Given the description of an element on the screen output the (x, y) to click on. 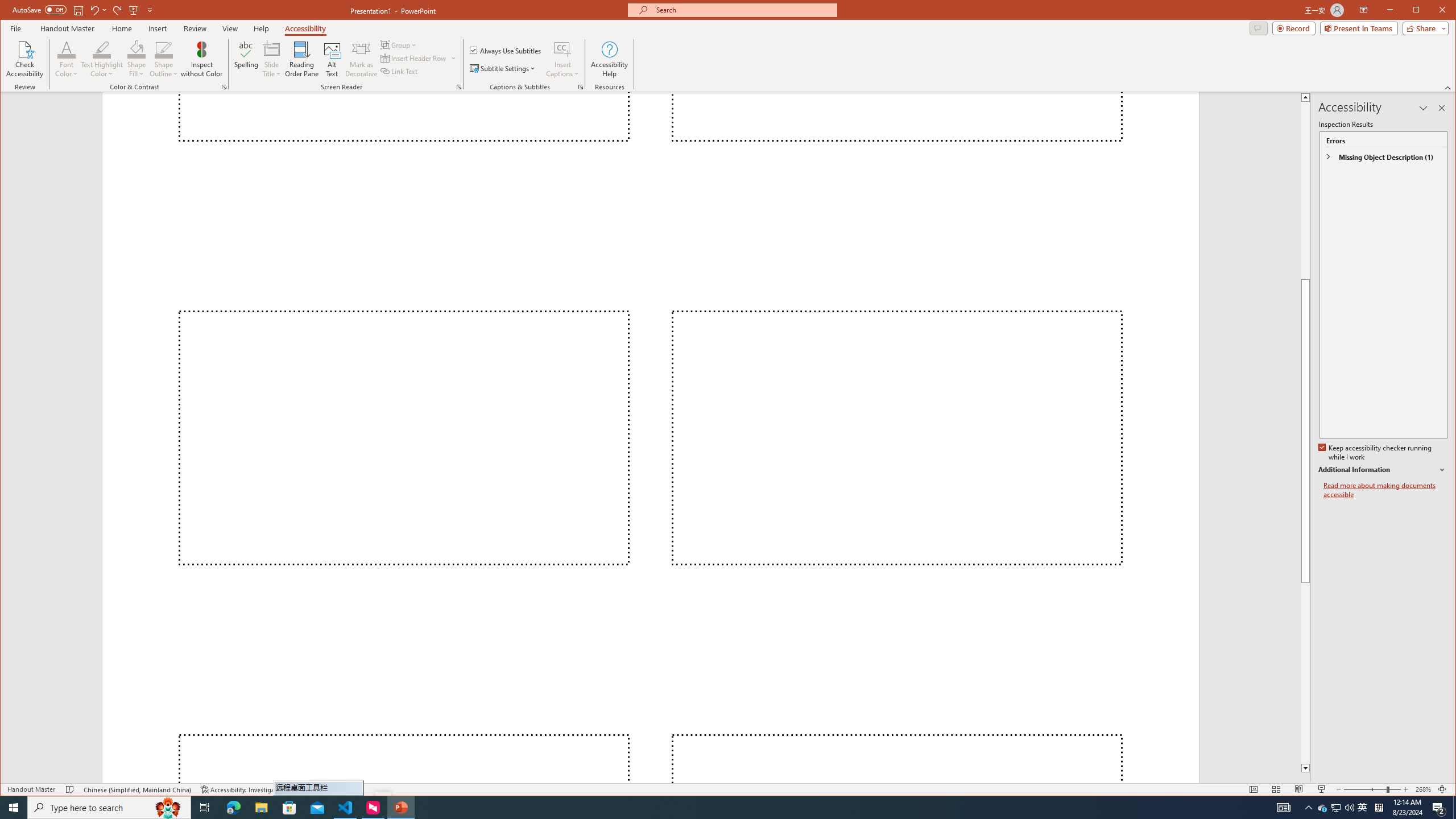
Alt Text (331, 59)
AutomationID: 4105 (1283, 807)
Slide Title (271, 59)
Insert Captions (562, 48)
File Explorer (261, 807)
Color & Contrast (223, 86)
Link Text (399, 70)
Captions & Subtitles (580, 86)
